Given the description of an element on the screen output the (x, y) to click on. 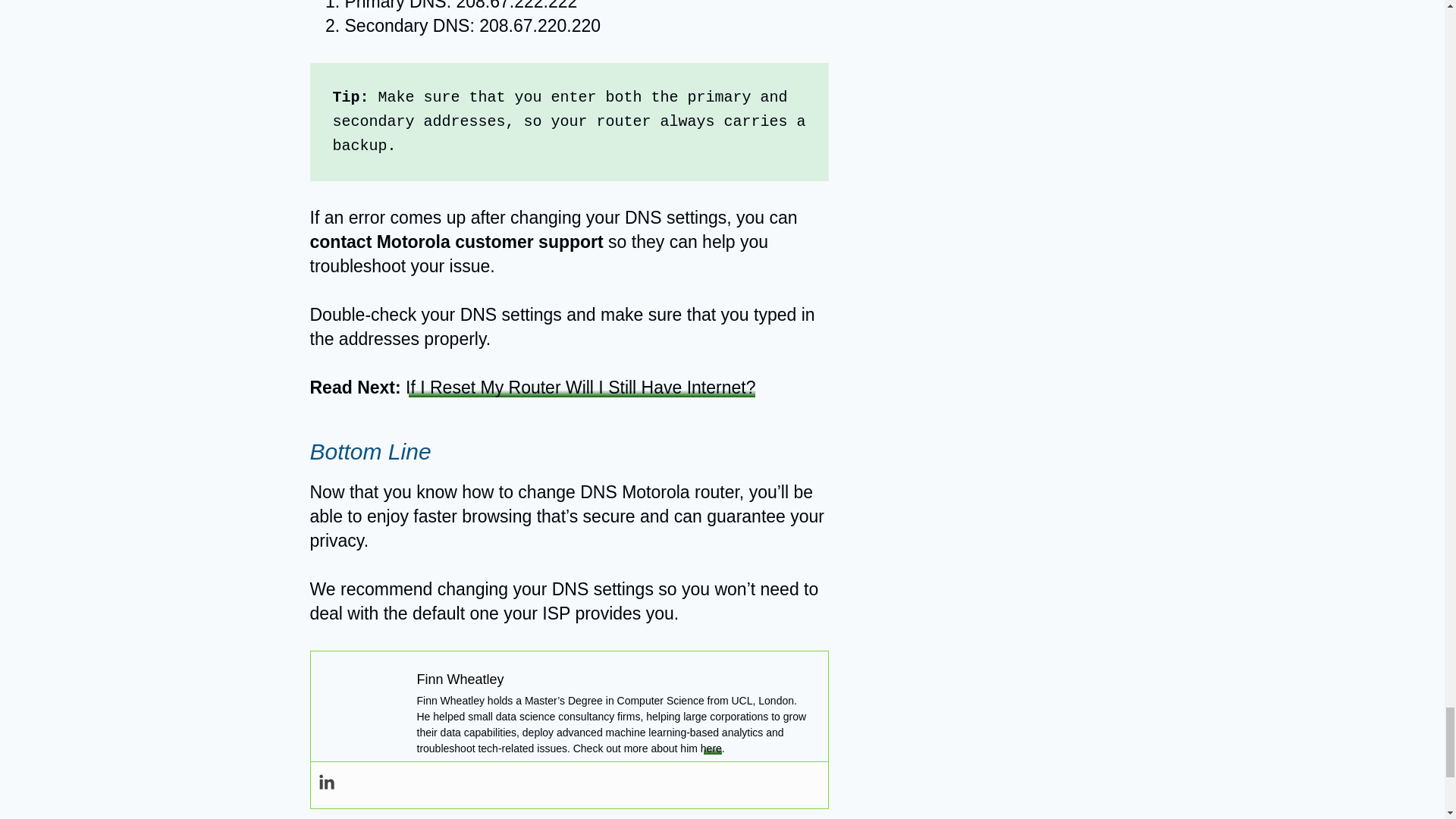
If I Reset My Router Will I Still Have Internet? (580, 387)
here (711, 748)
Change DNS Motorola Router - A Complete Guide! 8 (363, 708)
Finn Wheatley (459, 679)
